Given the description of an element on the screen output the (x, y) to click on. 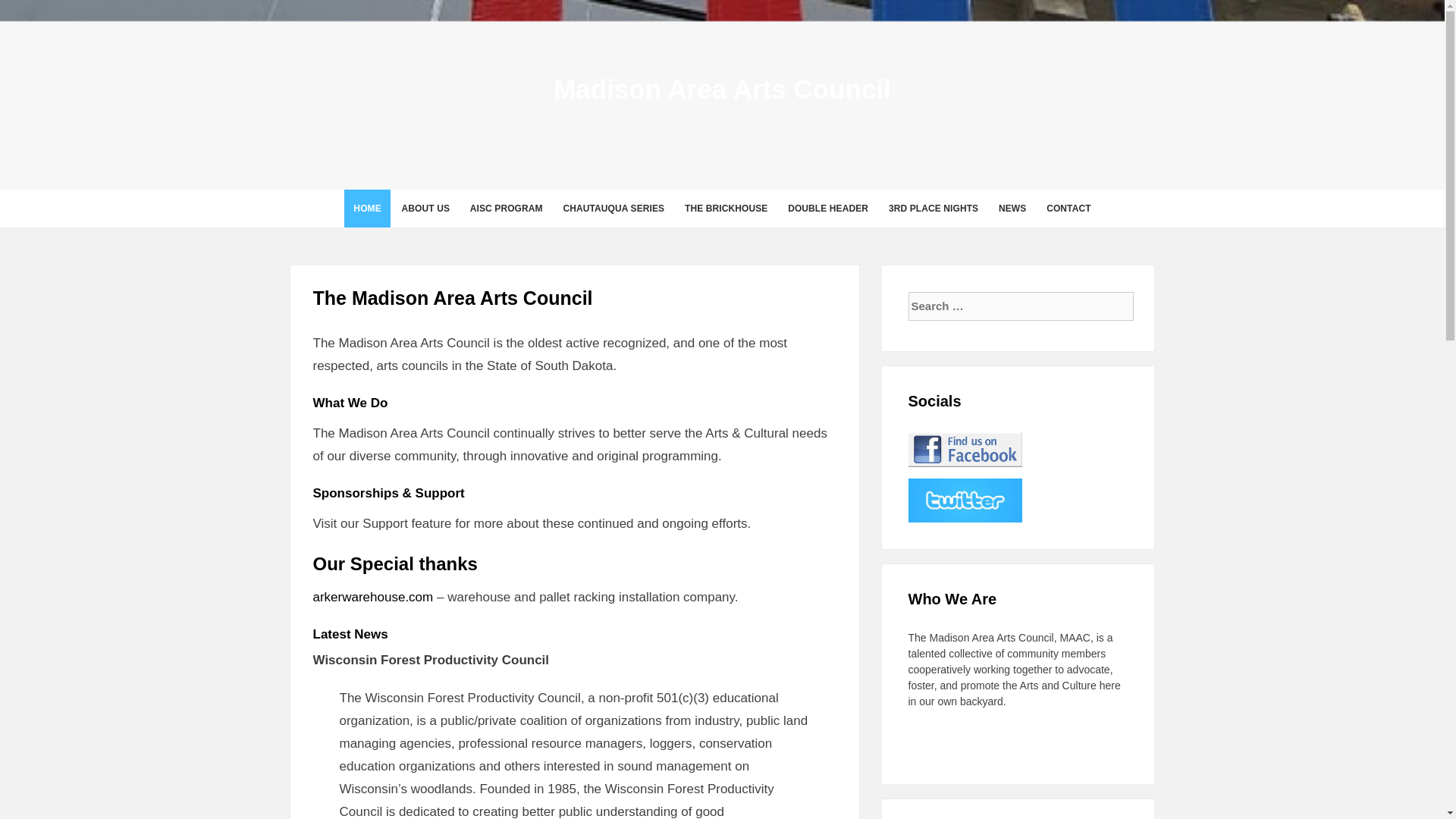
CONTACT (1067, 208)
Wisconsin Forest Productivity Council (430, 659)
HOME (366, 208)
News (1012, 208)
NEWS (1012, 208)
ABOUT US (425, 208)
AISC PROGRAM (506, 208)
About Us (425, 208)
3RD PLACE NIGHTS (933, 208)
THE BRICKHOUSE (725, 208)
Double Header (827, 208)
arkerwarehouse.com (372, 596)
Home (366, 208)
Madison Area Arts Council (722, 89)
Chautauqua Series (612, 208)
